Given the description of an element on the screen output the (x, y) to click on. 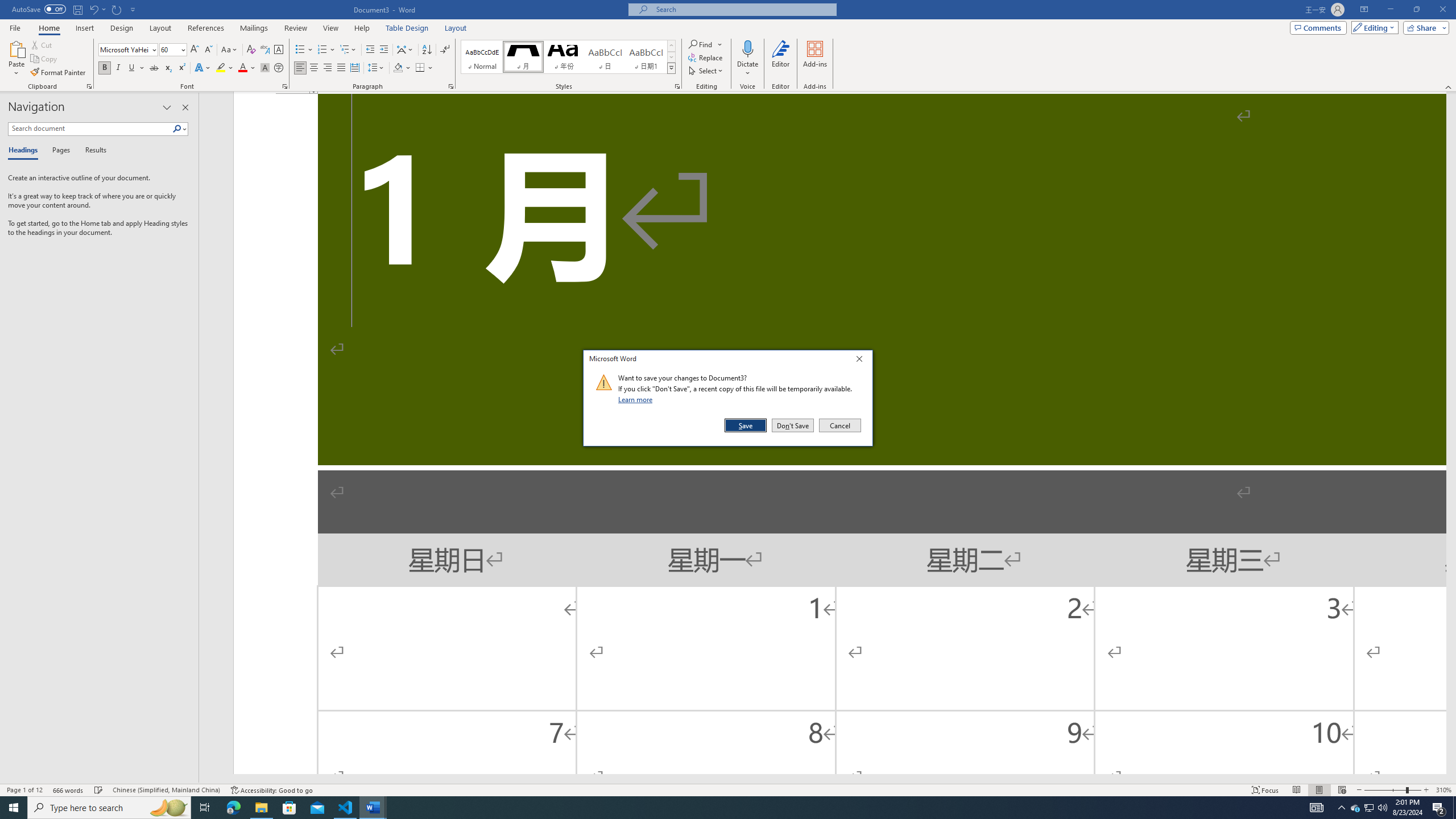
Replace... (705, 56)
Notification Chevron (1341, 807)
